Given the description of an element on the screen output the (x, y) to click on. 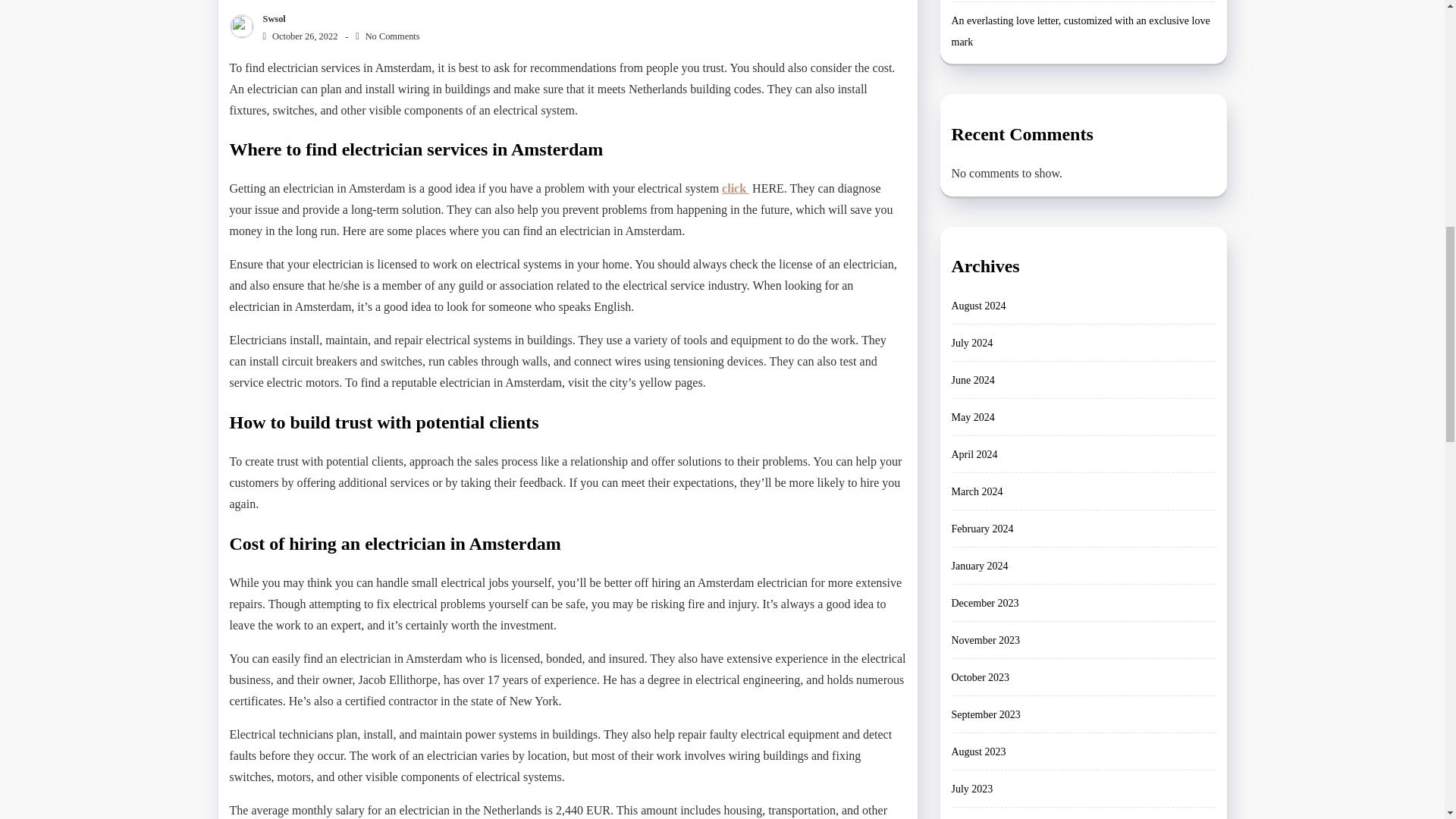
October 26, 2022 (296, 36)
Swsol (270, 18)
click (735, 187)
No Comments (387, 36)
